Given the description of an element on the screen output the (x, y) to click on. 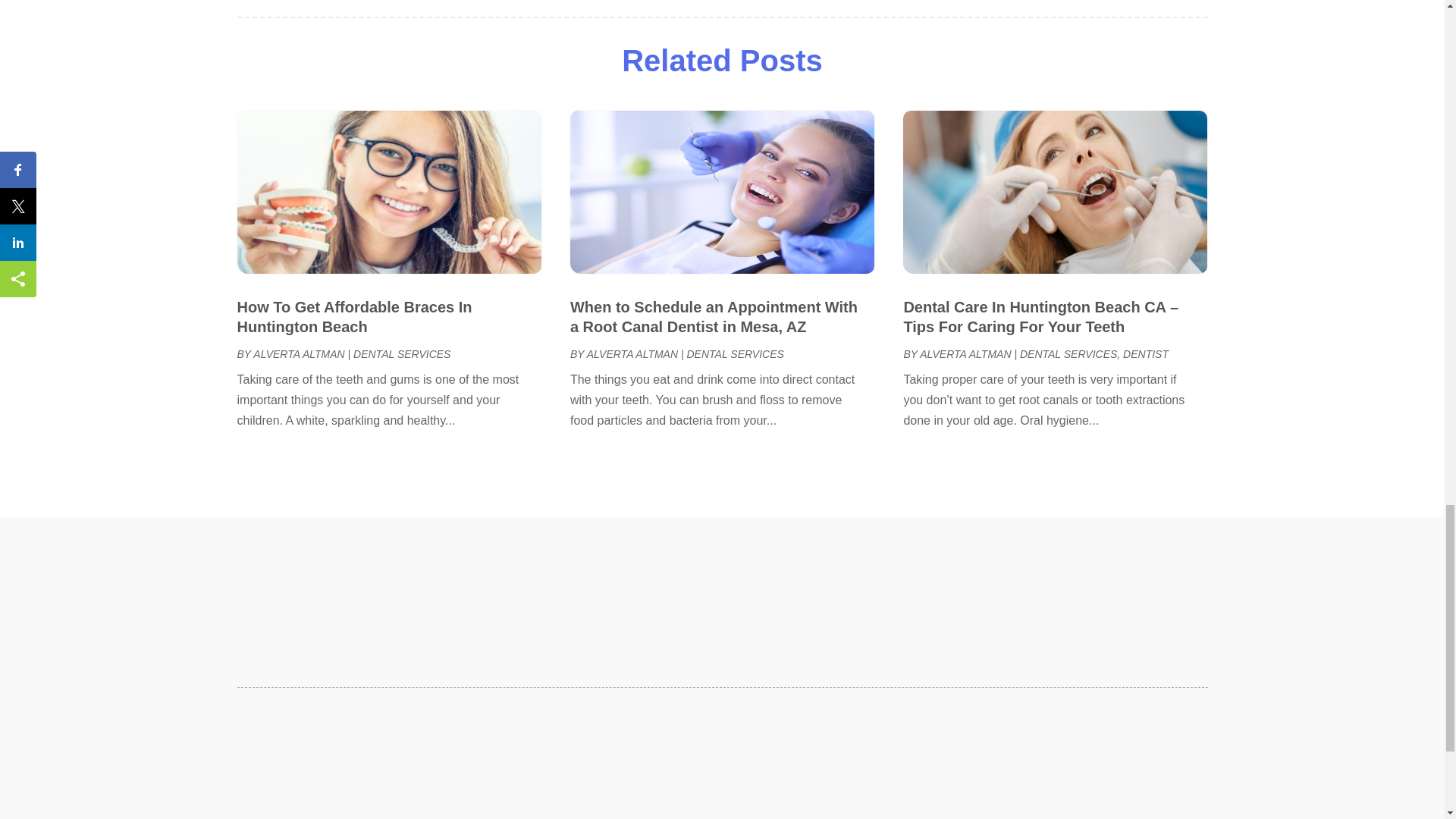
Posts by Alverta Altman (632, 354)
Posts by Alverta Altman (965, 354)
Posts by Alverta Altman (298, 354)
